Given the description of an element on the screen output the (x, y) to click on. 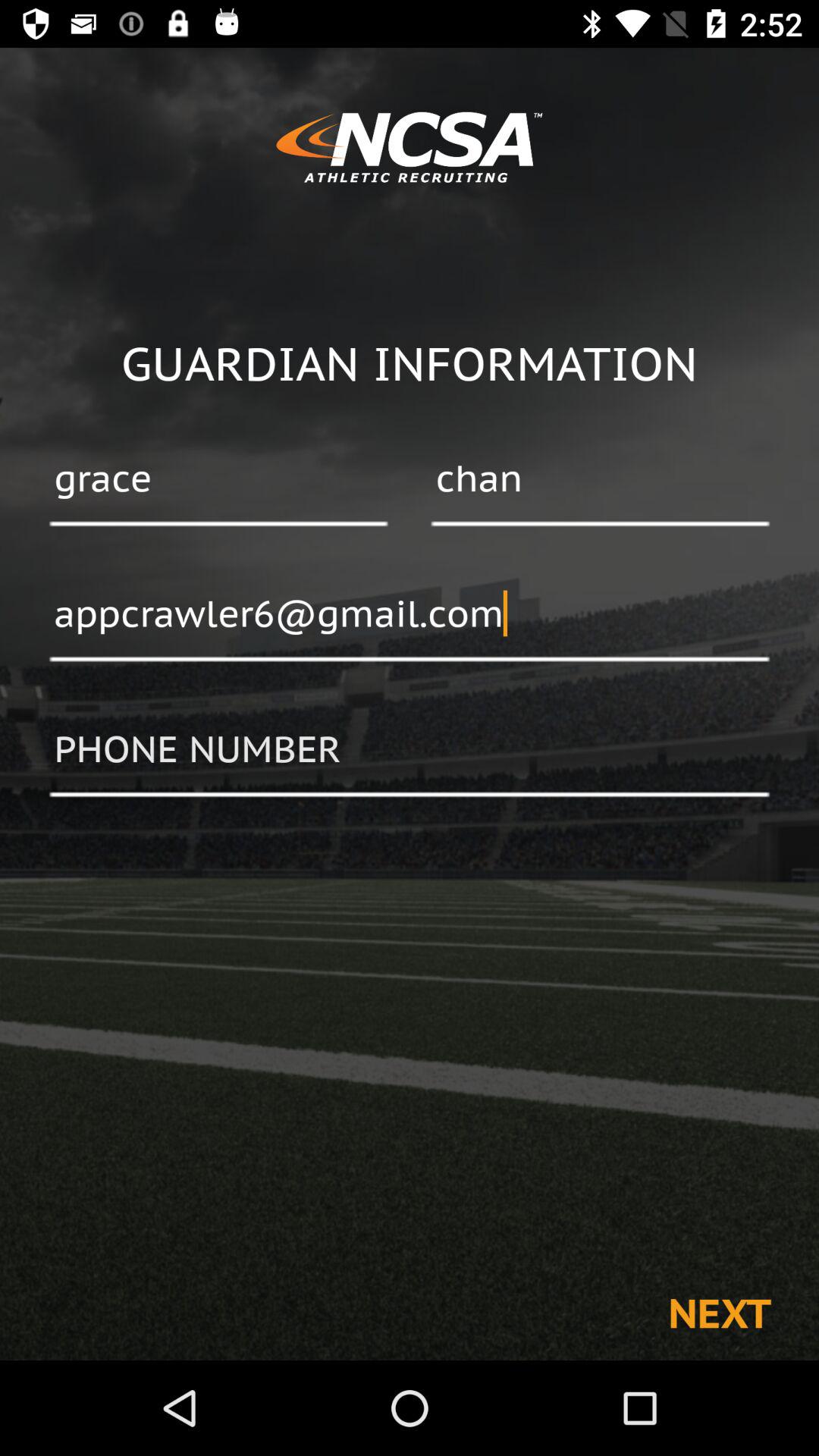
click appcrawler6@gmail.com (409, 615)
